Given the description of an element on the screen output the (x, y) to click on. 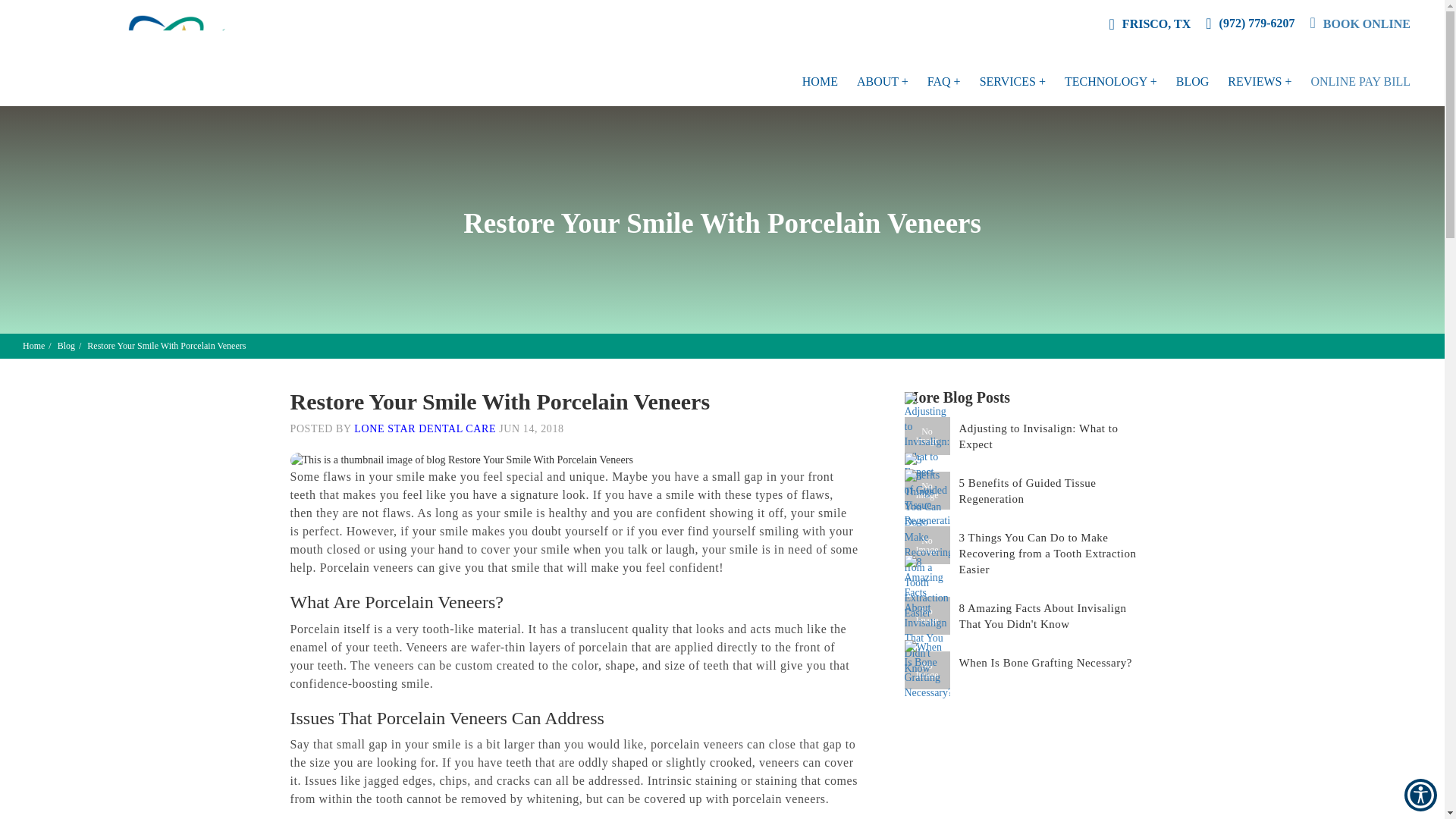
User way accessibility widget icon (1420, 795)
BOOK ONLINE (1360, 24)
FRISCO, TX (1150, 24)
HOME (820, 81)
Brand Logo (151, 53)
